Given the description of an element on the screen output the (x, y) to click on. 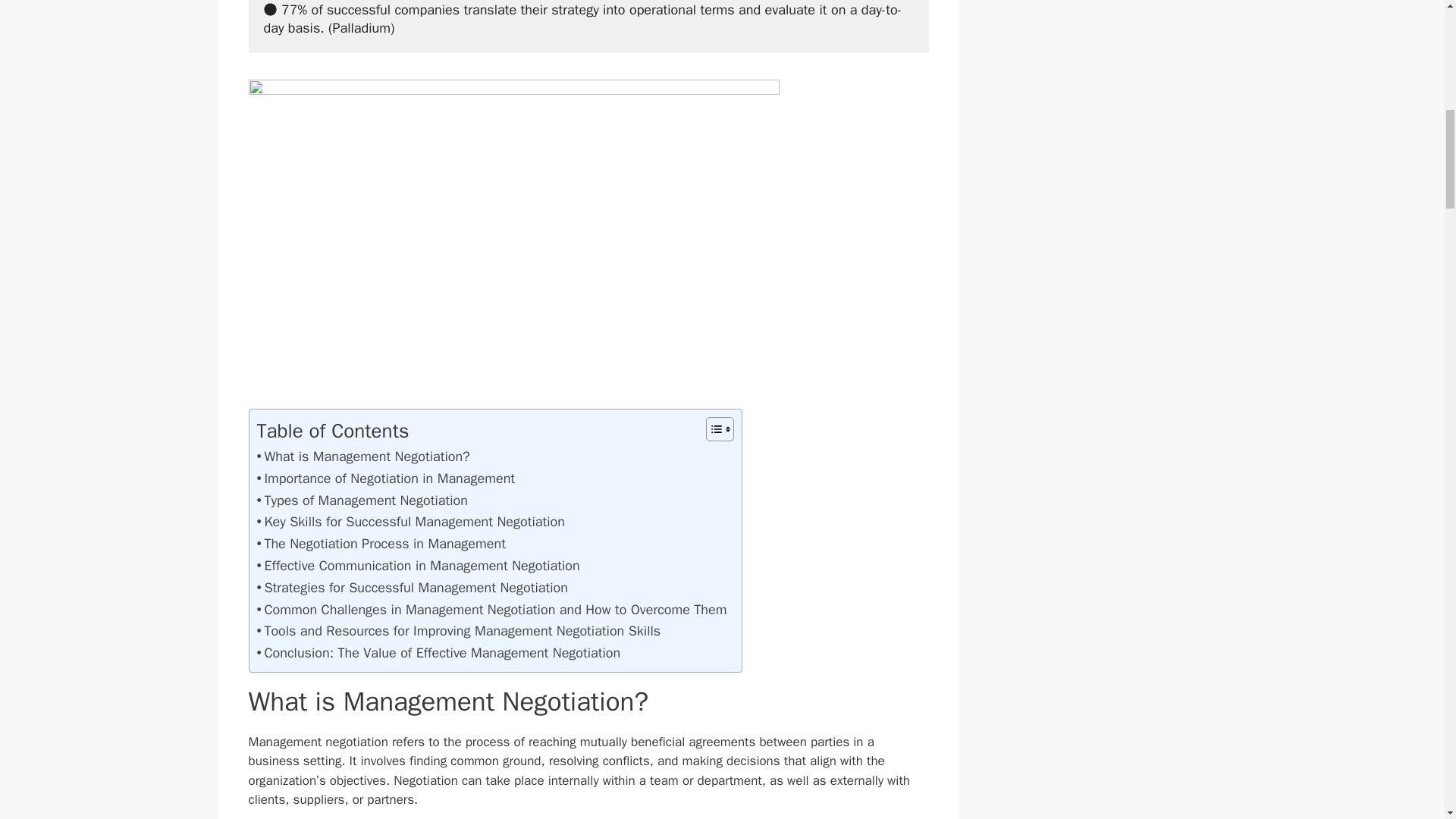
Types of Management Negotiation (361, 500)
Types of Management Negotiation (361, 500)
Conclusion: The Value of Effective Management Negotiation (438, 653)
Importance of Negotiation in Management (385, 478)
What is Management Negotiation? (362, 456)
Effective Communication in Management Negotiation (417, 566)
Strategies for Successful Management Negotiation (411, 587)
The Negotiation Process in Management (380, 544)
